Given the description of an element on the screen output the (x, y) to click on. 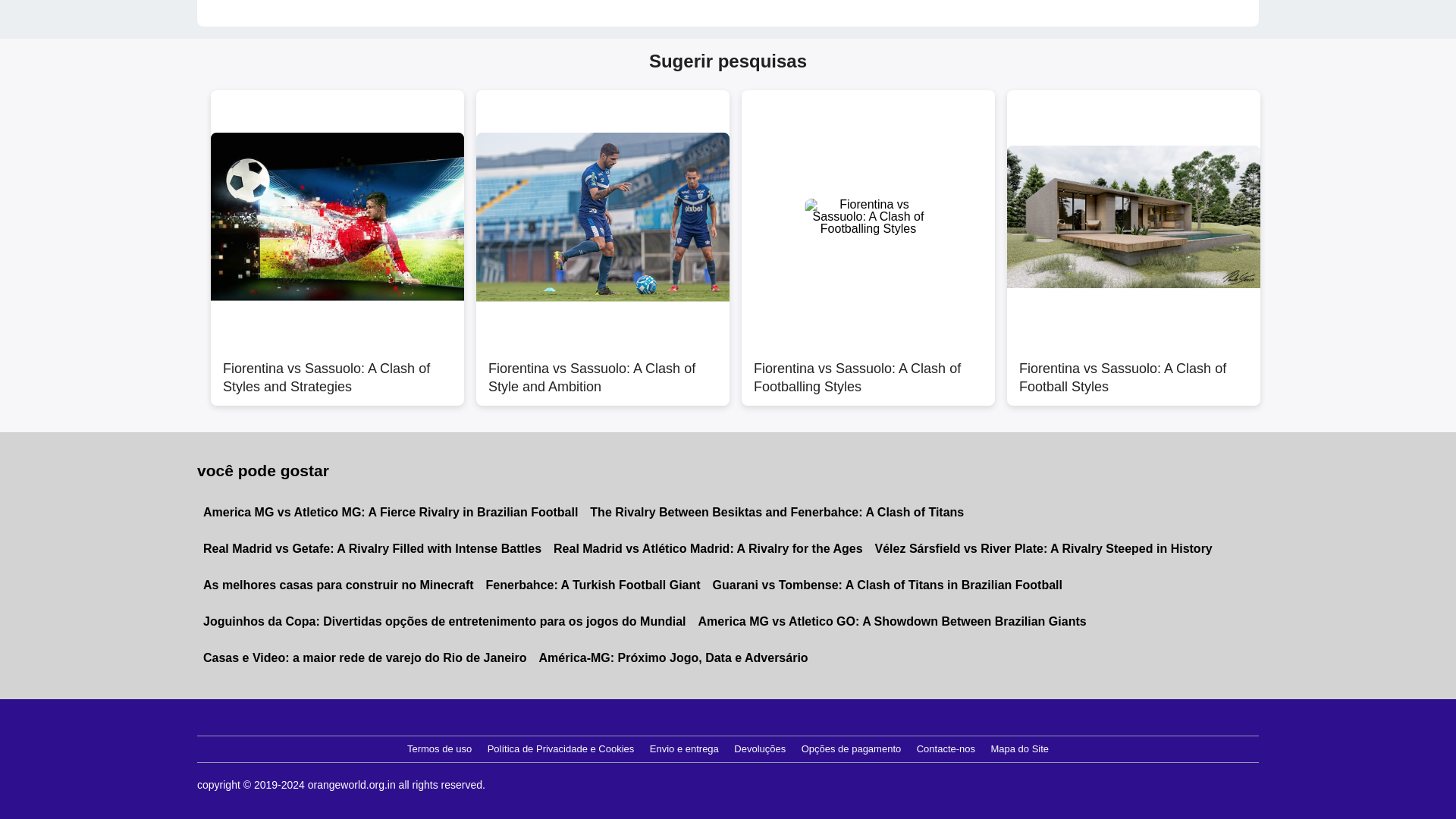
Fiorentina vs Sassuolo: A Clash of Styles and Strategies (337, 369)
Envio e entrega (684, 749)
Fiorentina vs Sassuolo: A Clash of Football Styles (1133, 369)
Fiorentina vs Sassuolo: A Clash of Style and Ambition (602, 369)
Fenerbahce: A Turkish Football Giant (593, 585)
Termos de uso (439, 749)
As melhores casas para construir no Minecraft (338, 585)
Real Madrid vs Getafe: A Rivalry Filled with Intense Battles (371, 548)
Casas e Video: a maior rede de varejo do Rio de Janeiro (364, 657)
Contacte-nos (946, 749)
Guarani vs Tombense: A Clash of Titans in Brazilian Football (887, 585)
Fiorentina vs Sassuolo: A Clash of Footballing Styles (867, 369)
